Given the description of an element on the screen output the (x, y) to click on. 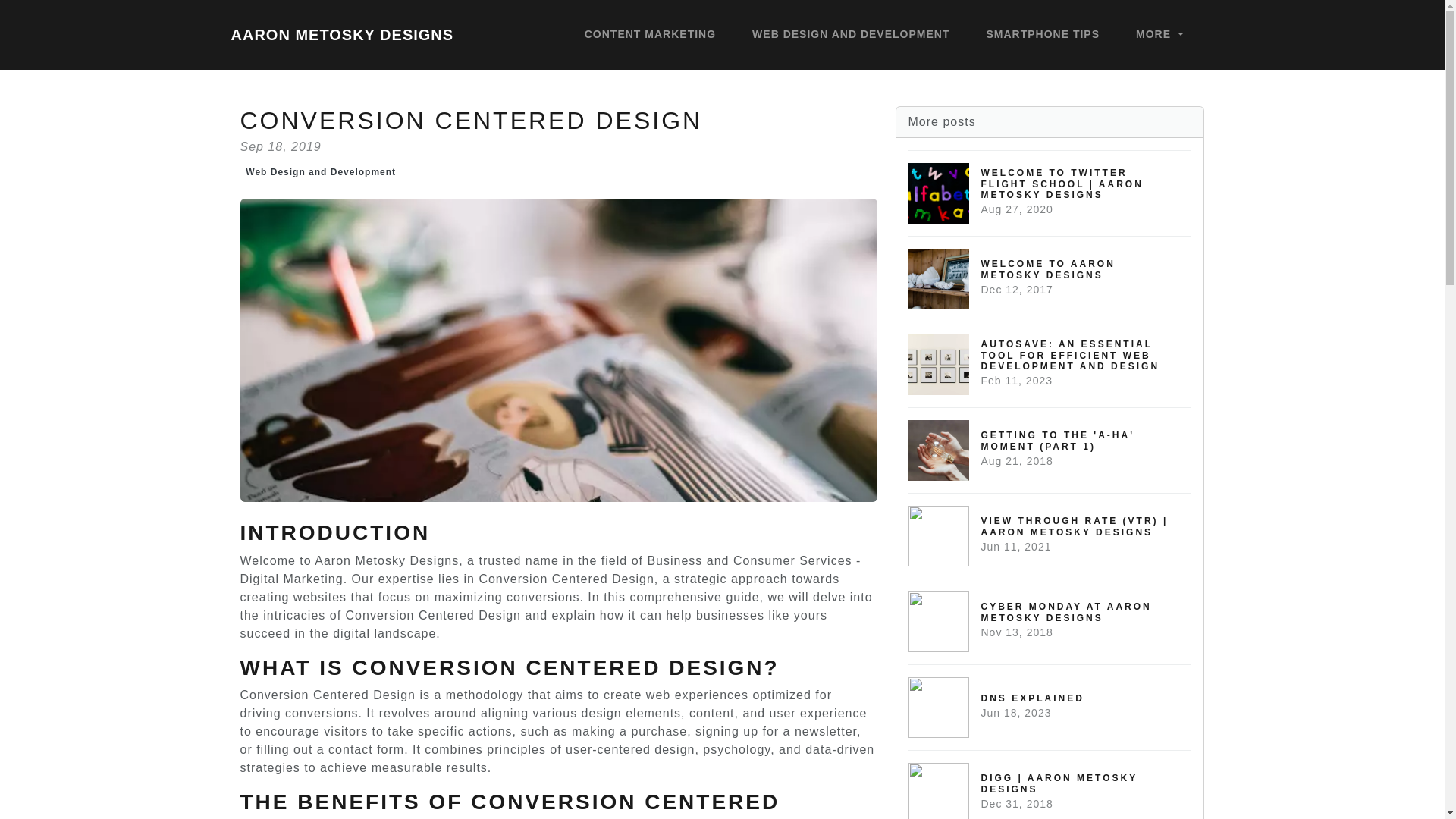
SMARTPHONE TIPS (1042, 34)
Web Design and Development (1050, 278)
MORE (320, 172)
CONTENT MARKETING (1159, 34)
AARON METOSKY DESIGNS (650, 34)
WEB DESIGN AND DEVELOPMENT (341, 34)
